Given the description of an element on the screen output the (x, y) to click on. 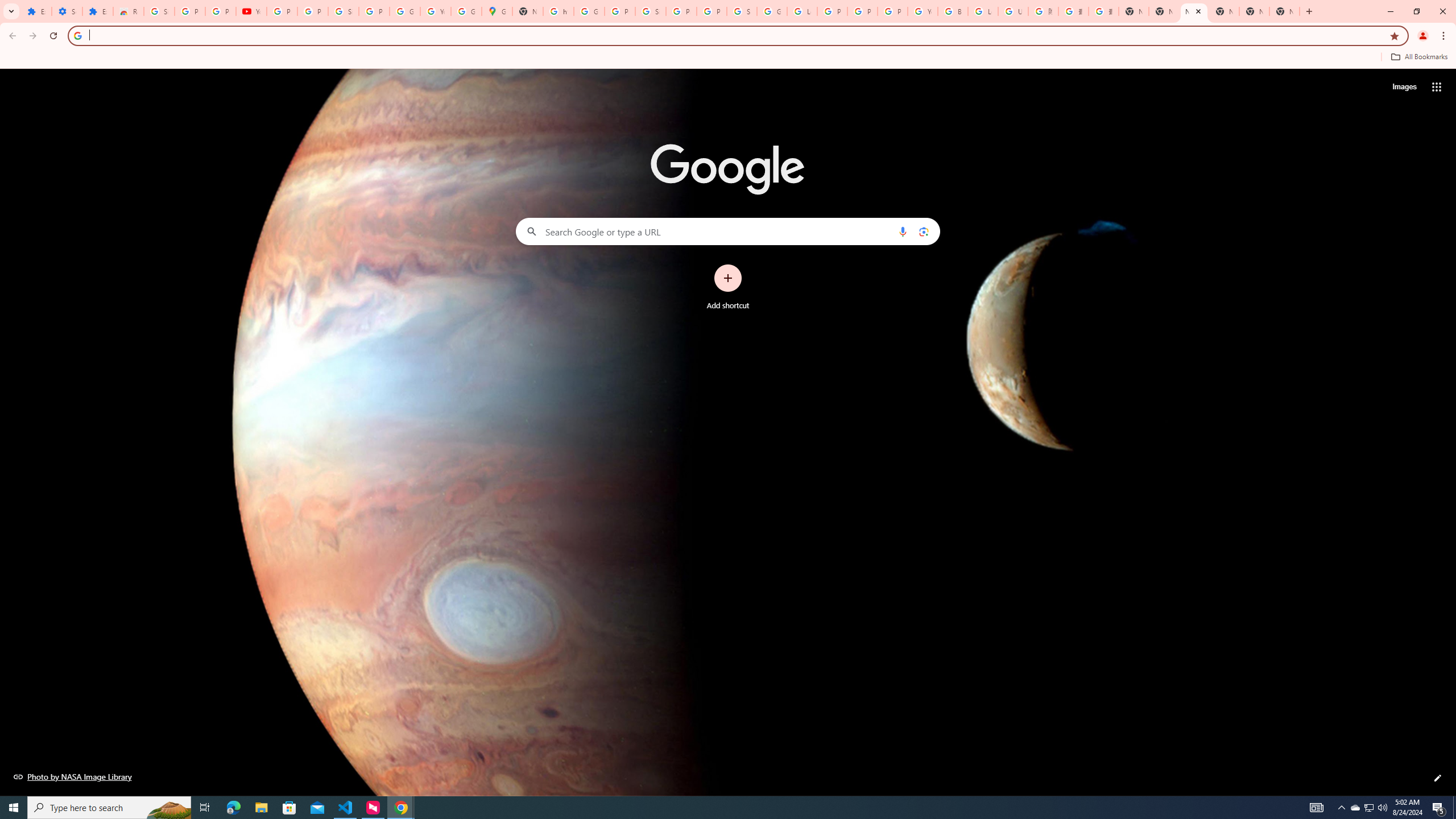
YouTube (434, 11)
Extensions (36, 11)
Search for Images  (1403, 87)
Search by voice (902, 230)
Privacy Help Center - Policies Help (832, 11)
Browse Chrome as a guest - Computer - Google Chrome Help (952, 11)
Search icon (77, 35)
Settings (66, 11)
